Given the description of an element on the screen output the (x, y) to click on. 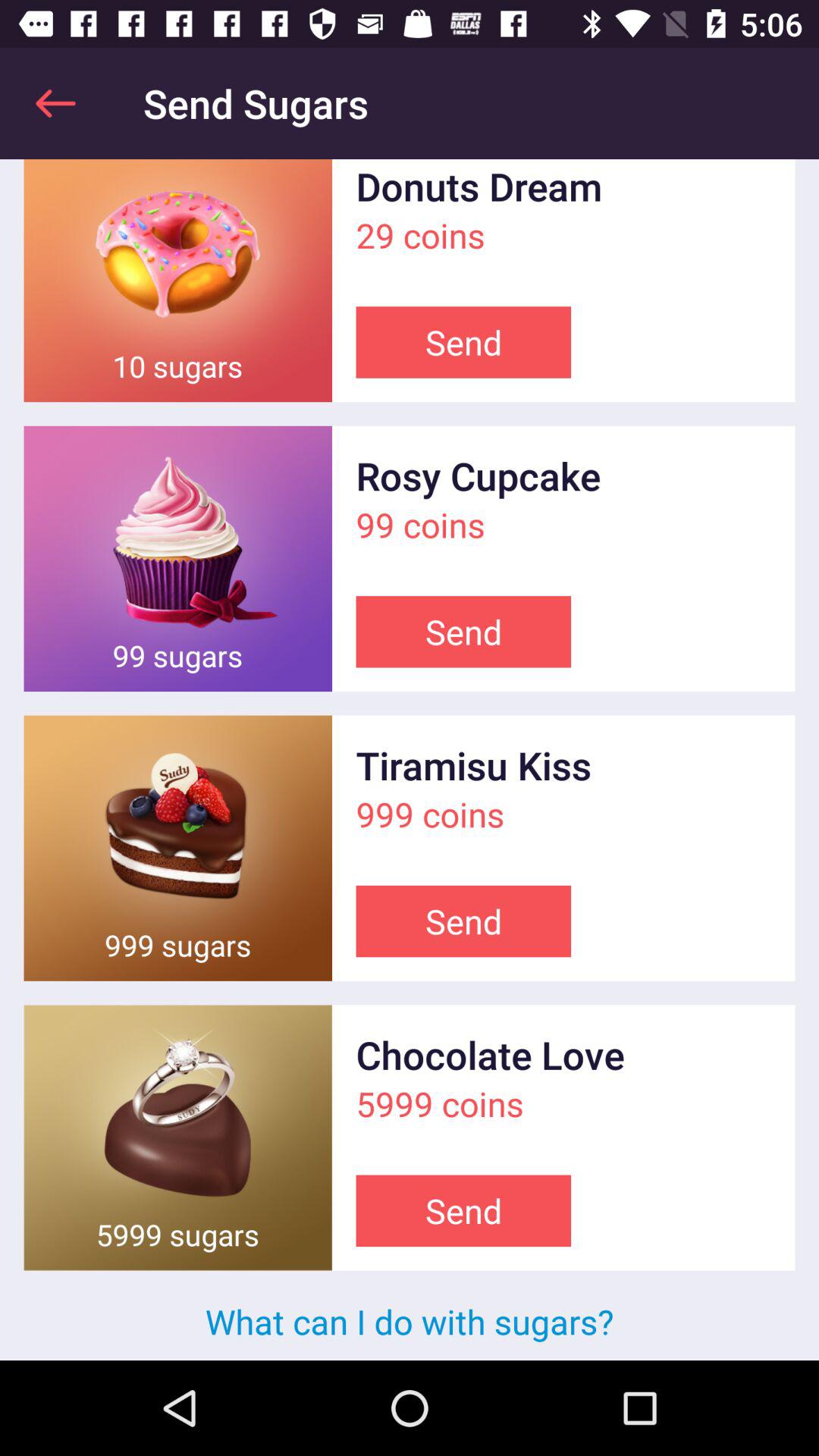
go back (55, 103)
